Given the description of an element on the screen output the (x, y) to click on. 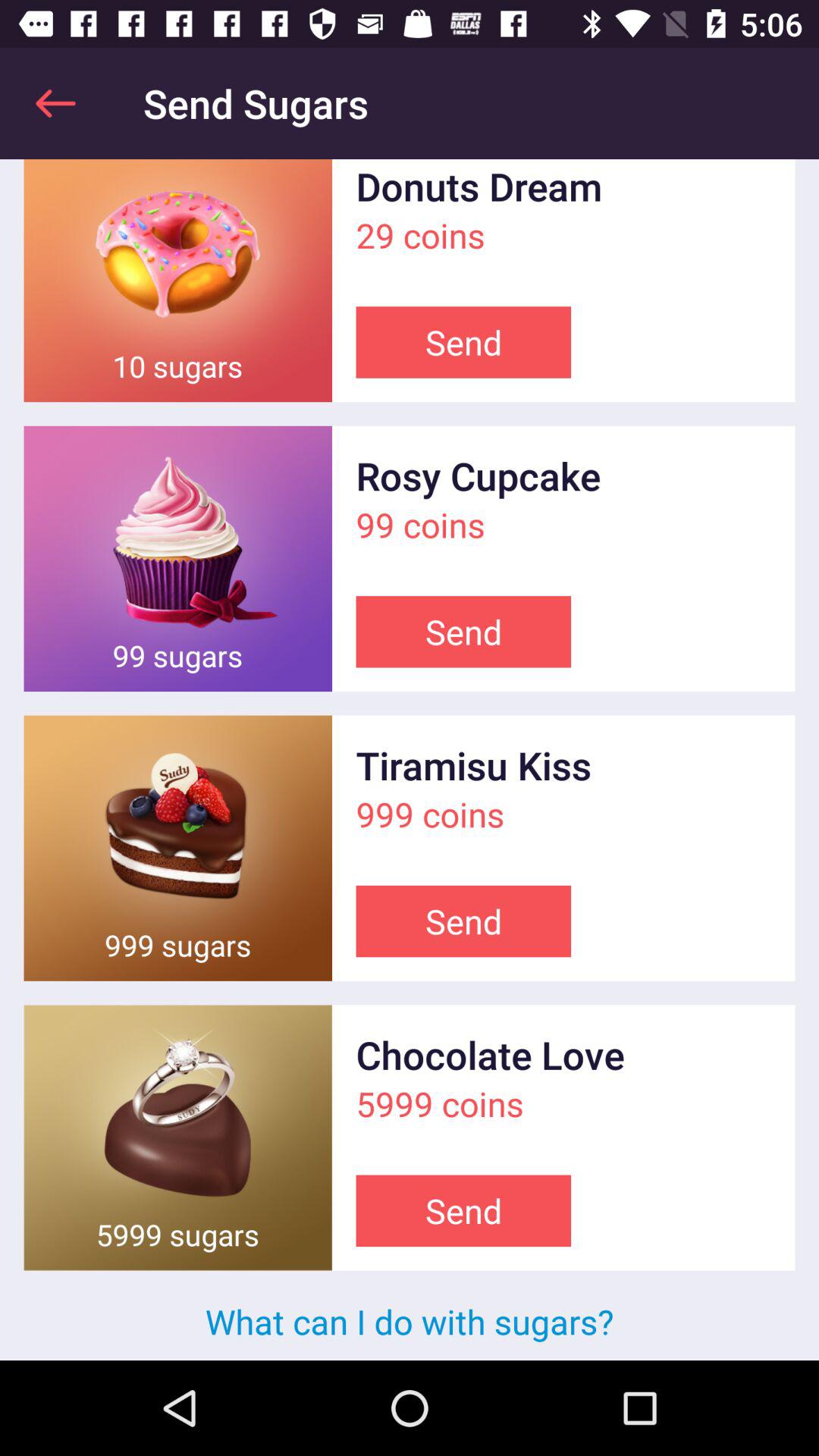
go back (55, 103)
